Given the description of an element on the screen output the (x, y) to click on. 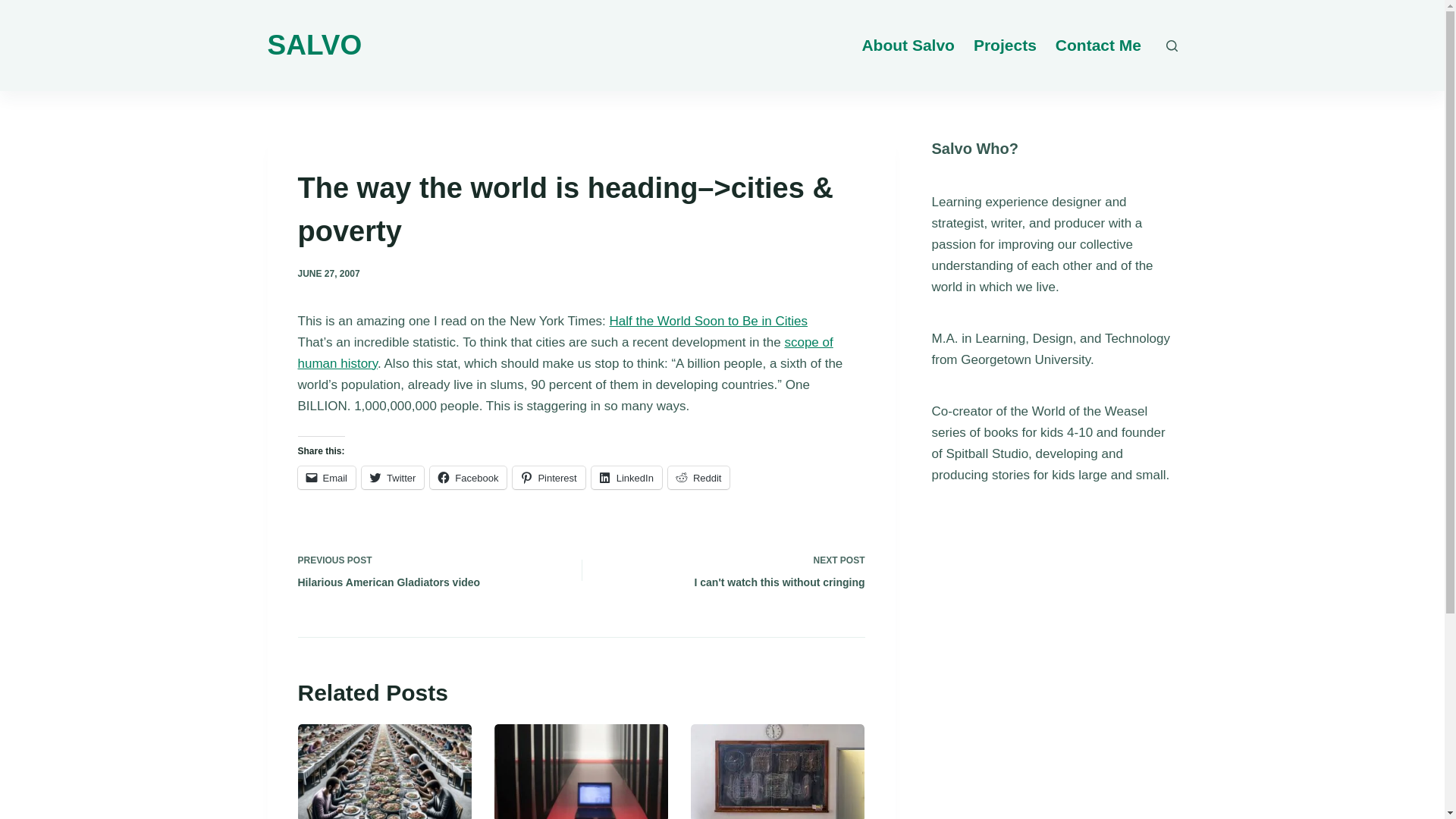
LinkedIn (626, 477)
Reddit (699, 477)
Pinterest (548, 477)
SALVO (313, 44)
Click to share on Facebook (467, 477)
About Salvo (907, 45)
Twitter (392, 477)
Spitball Studio (985, 453)
Skip to content (15, 7)
Email (326, 477)
Contact Me (1097, 45)
Click to share on LinkedIn (734, 569)
Facebook (626, 477)
Click to share on Reddit (467, 477)
